Given the description of an element on the screen output the (x, y) to click on. 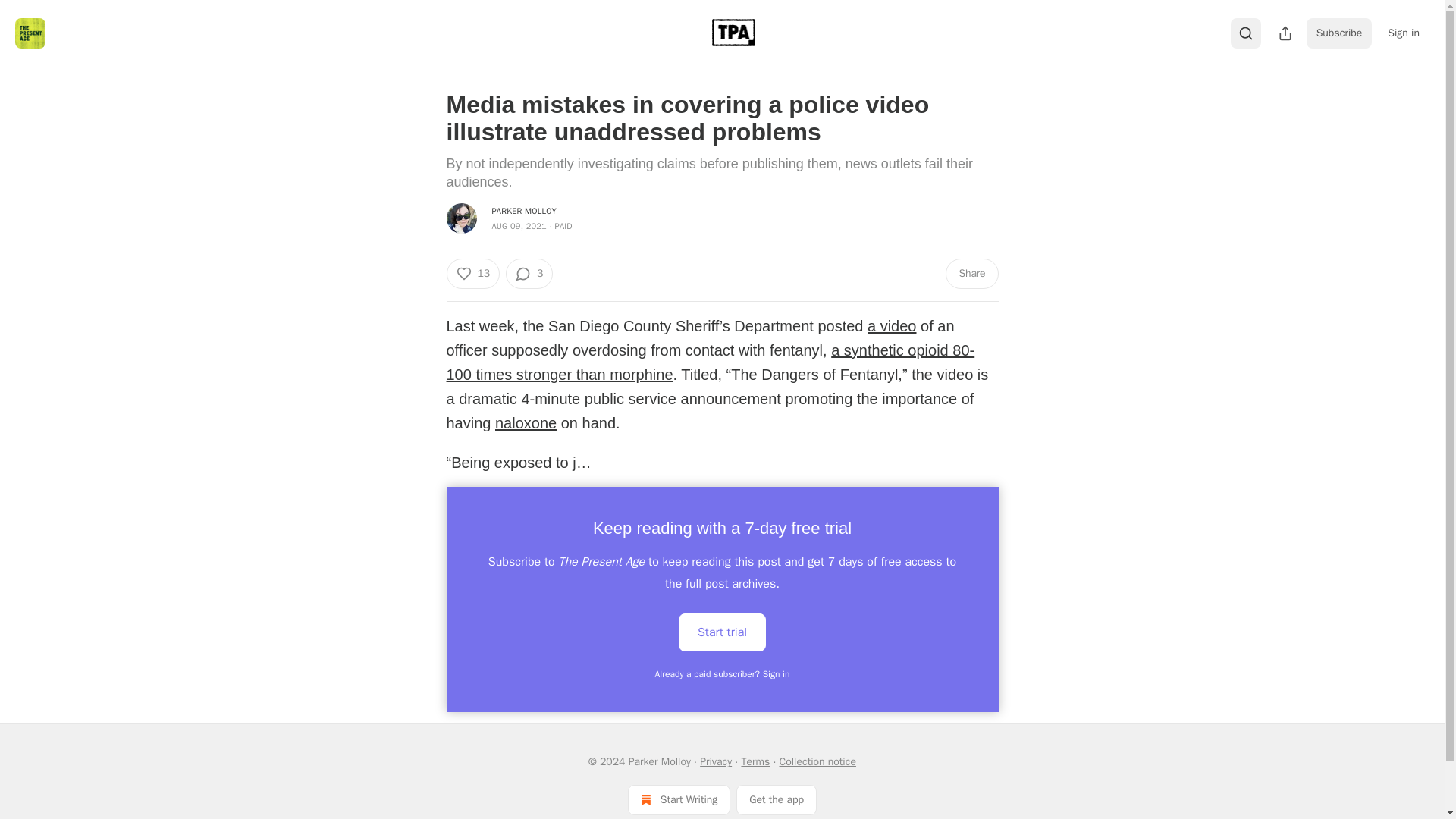
Collection notice (817, 761)
Start trial (721, 630)
3 (529, 273)
Start Writing (678, 799)
13 (472, 273)
PARKER MOLLOY (524, 210)
a synthetic opioid 80-100 times stronger than morphine (709, 362)
Privacy (716, 761)
Share (970, 273)
Subscribe (1339, 33)
Sign in (1403, 33)
Get the app (776, 799)
naloxone (525, 422)
Start trial (721, 632)
Already a paid subscriber? Sign in (722, 674)
